Given the description of an element on the screen output the (x, y) to click on. 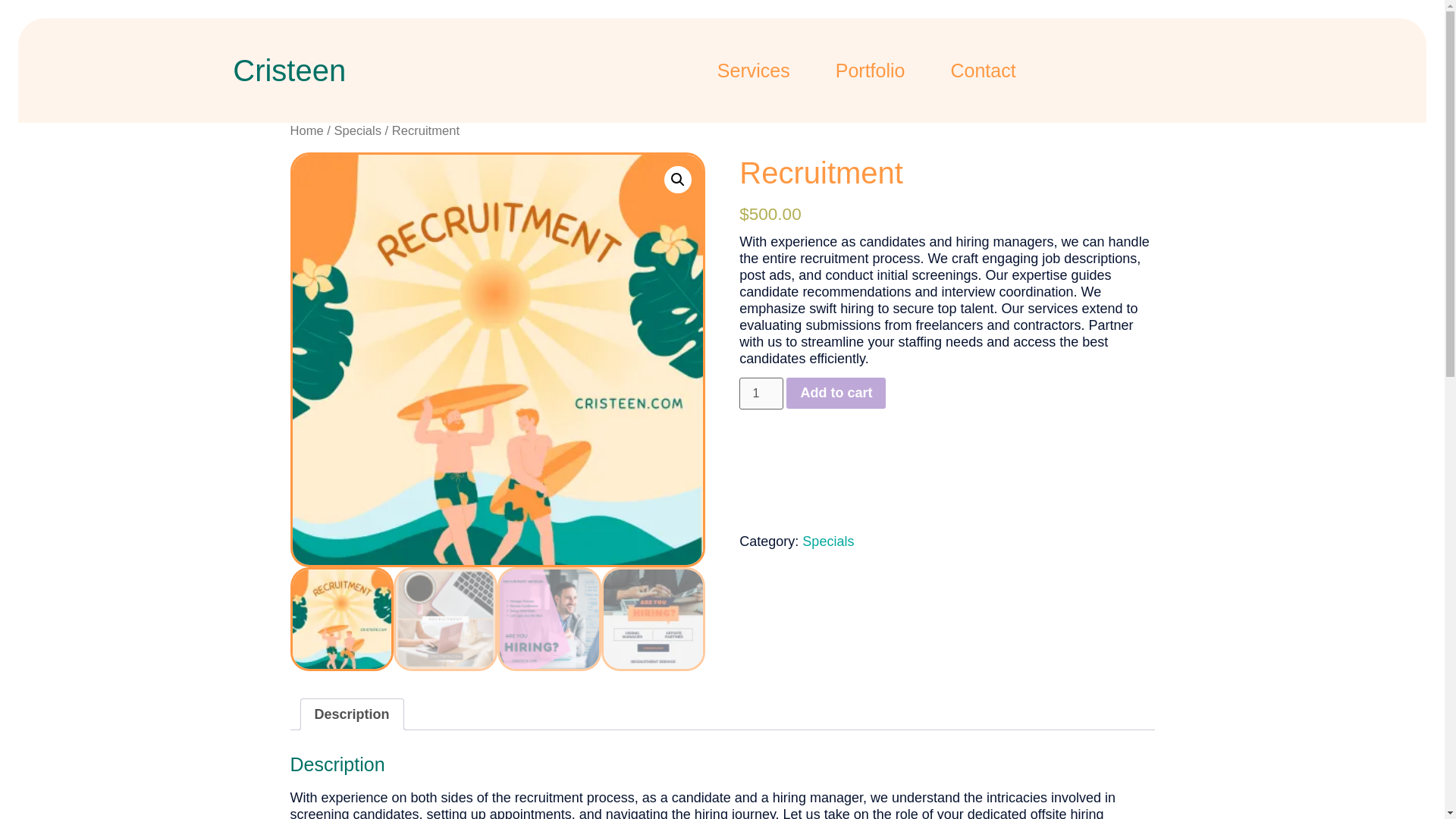
Add to cart (835, 392)
1 (761, 393)
Specials (357, 130)
Cristeen (289, 69)
PayPal (946, 457)
Home (306, 130)
Contact (982, 70)
Specials (827, 540)
Services (753, 70)
Description (351, 714)
Portfolio (870, 70)
